Given the description of an element on the screen output the (x, y) to click on. 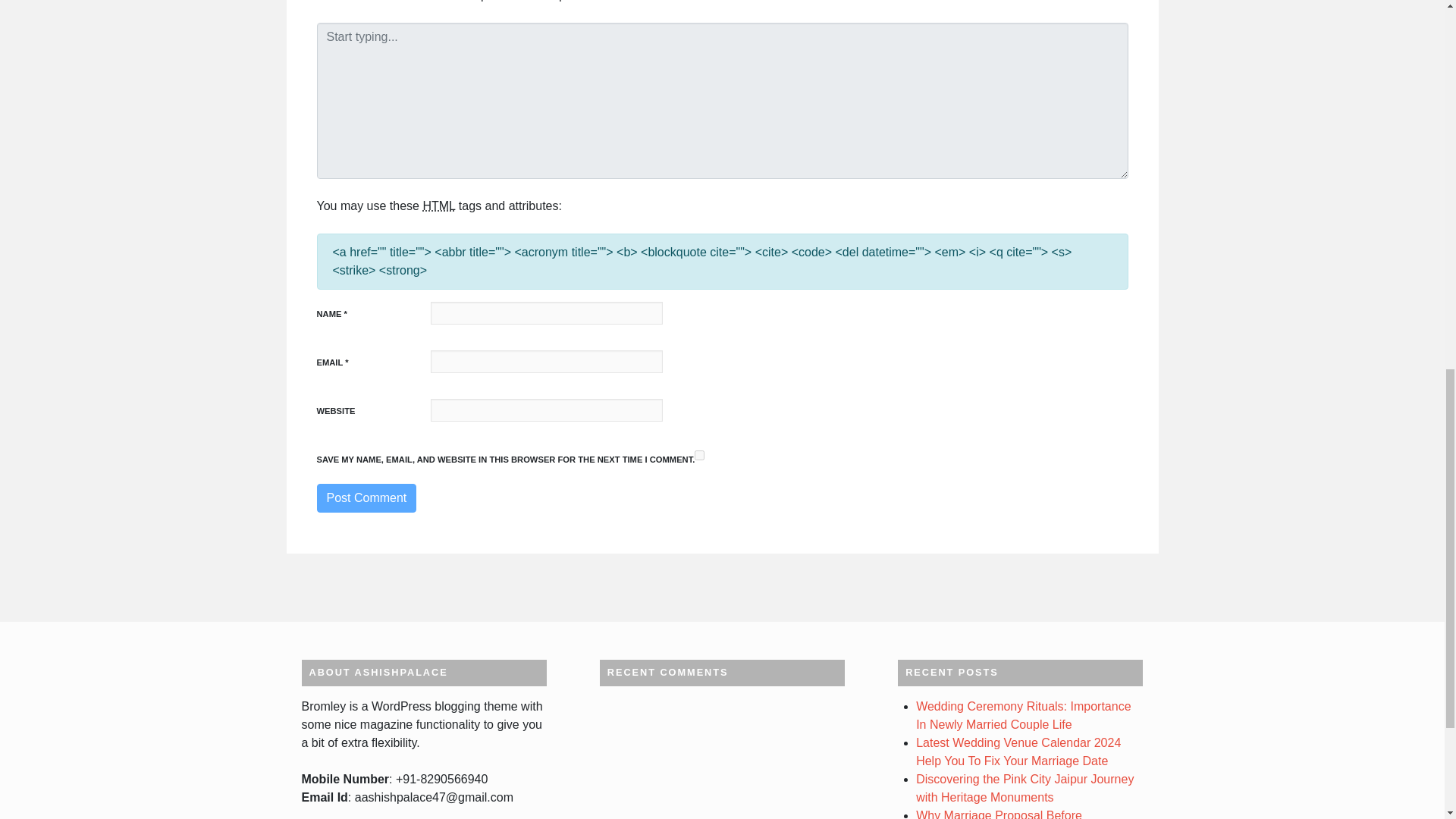
Post Comment (366, 498)
HyperText Markup Language (438, 205)
yes (699, 455)
Post Comment (366, 498)
